Given the description of an element on the screen output the (x, y) to click on. 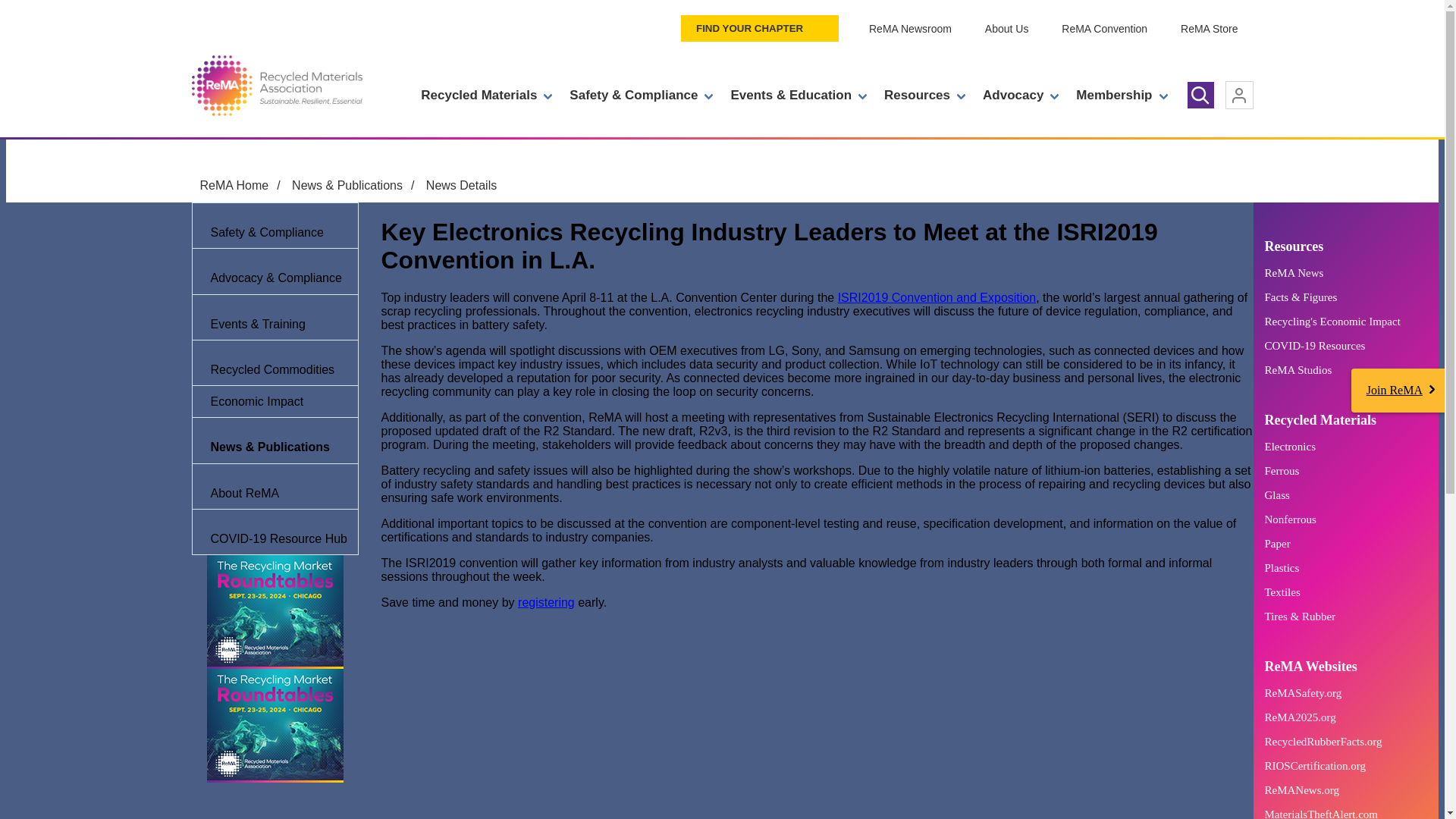
ReMA Newsroom (909, 28)
FIND YOUR CHAPTER (759, 28)
ReMA Convention (1103, 28)
ReMA Store (1209, 28)
ReMA-website-logo-tagline-500x (275, 85)
Recycled Materials (486, 95)
About Us (1006, 28)
